Given the description of an element on the screen output the (x, y) to click on. 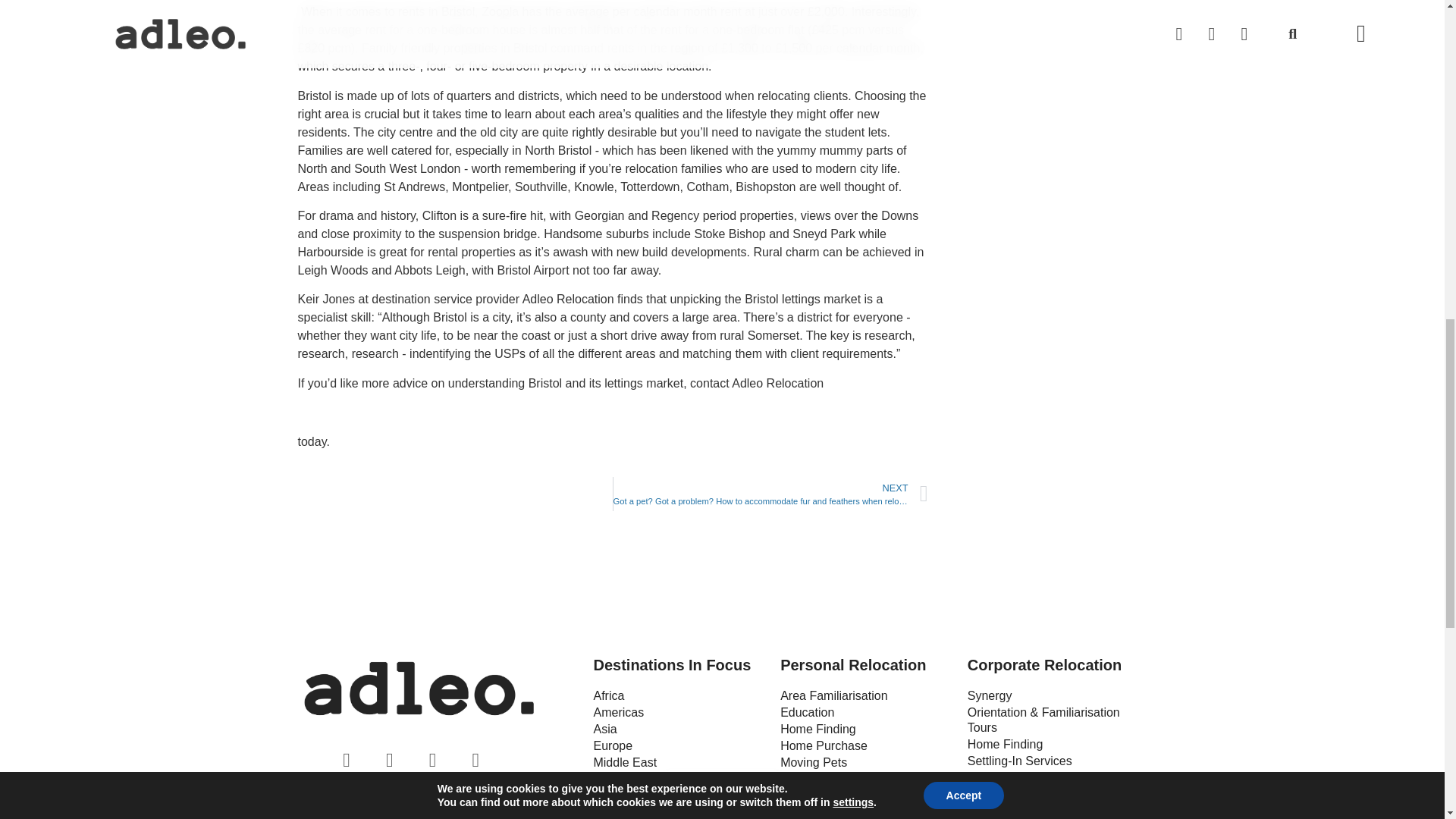
Africa (678, 695)
Oceania (678, 795)
Middle East (678, 762)
Europe (678, 745)
United Kingdom (678, 811)
Netherlands (678, 779)
Asia (678, 729)
Americas (678, 712)
